Given the description of an element on the screen output the (x, y) to click on. 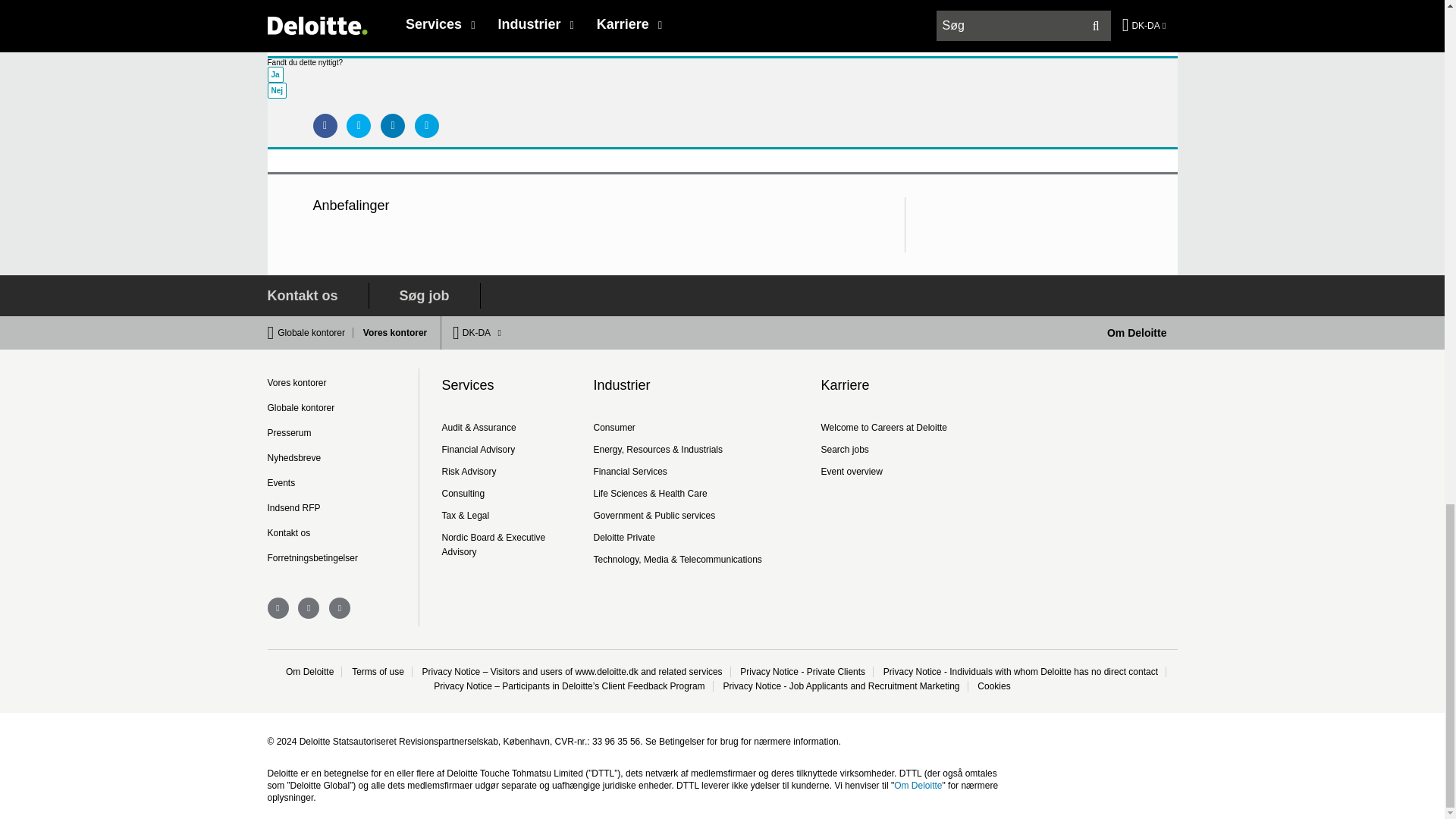
Om Deloitte (1136, 332)
twitter (339, 608)
facebook (308, 608)
Globale kontorer (315, 332)
linkedin (277, 608)
Share via Twitter (358, 125)
Share via Facebook (324, 125)
Vores kontorer (390, 332)
Share via Email (426, 125)
Share via LinkedIn (392, 125)
